Given the description of an element on the screen output the (x, y) to click on. 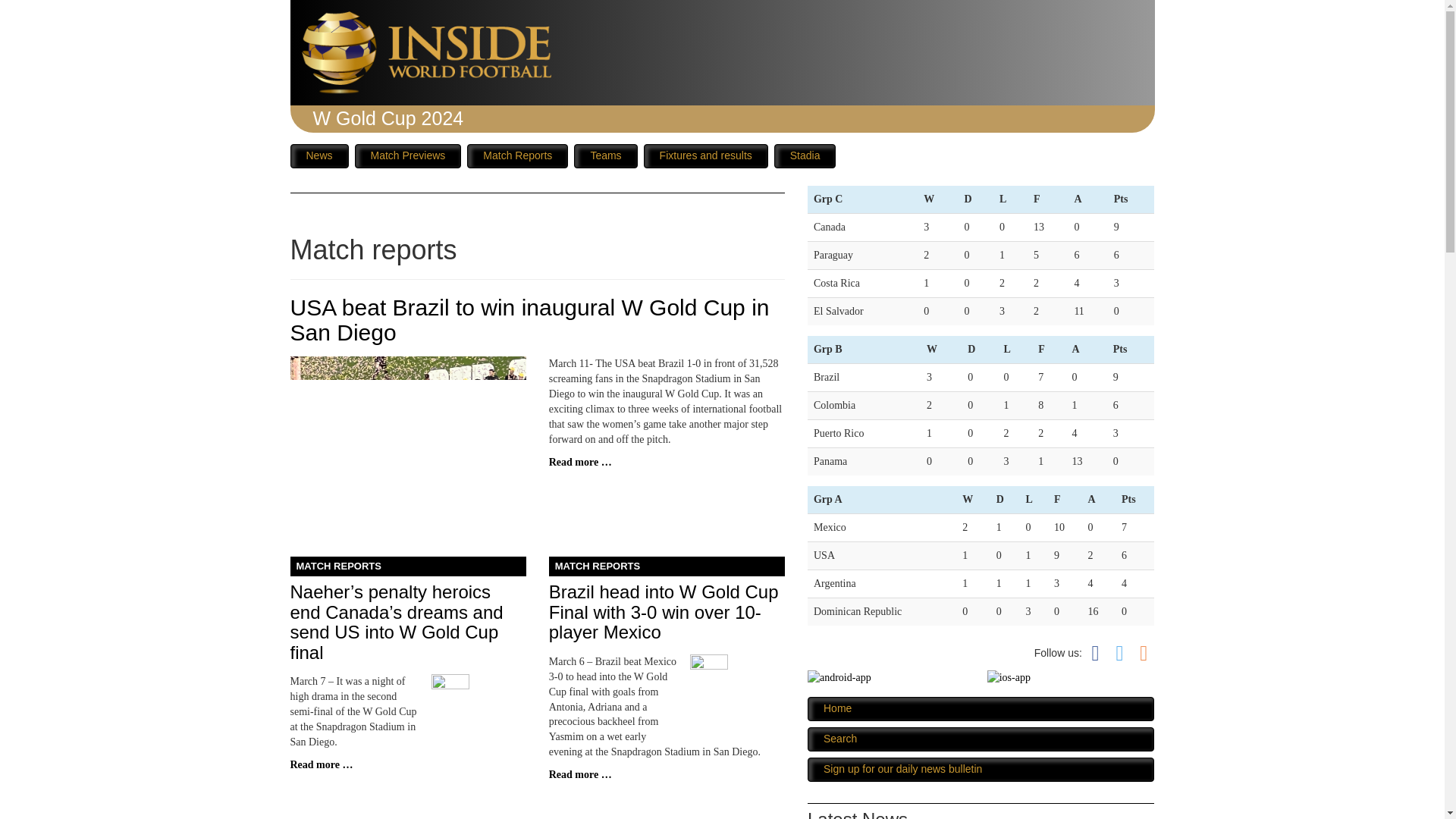
MATCH REPORTS (407, 566)
W Gold Cup 2024 (388, 117)
News (318, 156)
Teams (605, 156)
Stadia (804, 156)
MATCH REPORTS (666, 566)
Match Reports (517, 156)
Match Previews (408, 156)
Fixtures and results (705, 156)
